Given the description of an element on the screen output the (x, y) to click on. 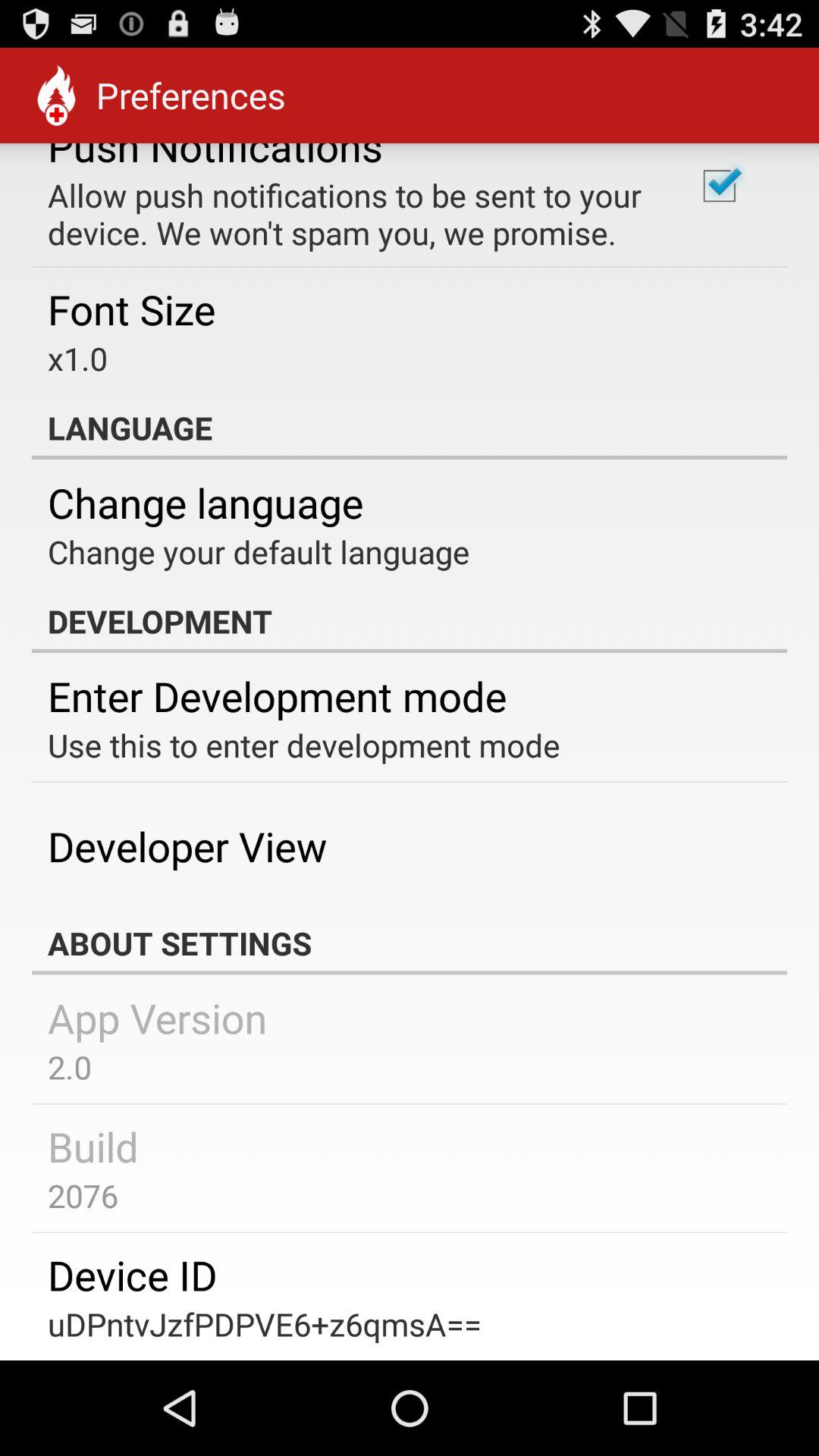
swipe until udpntvjzfpdpve6+z6qmsa== item (264, 1323)
